Given the description of an element on the screen output the (x, y) to click on. 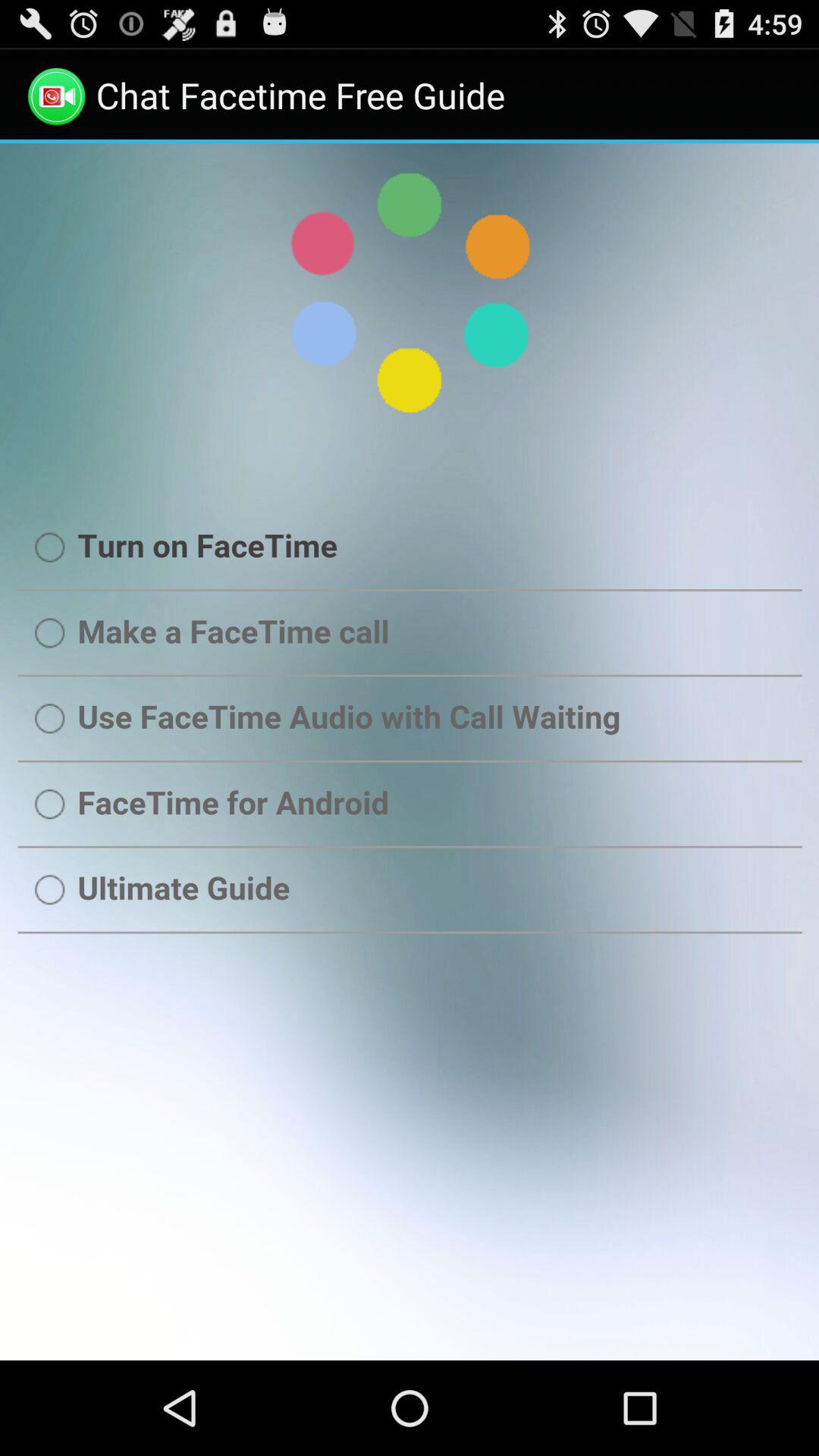
choose facetime mode (409, 751)
